Given the description of an element on the screen output the (x, y) to click on. 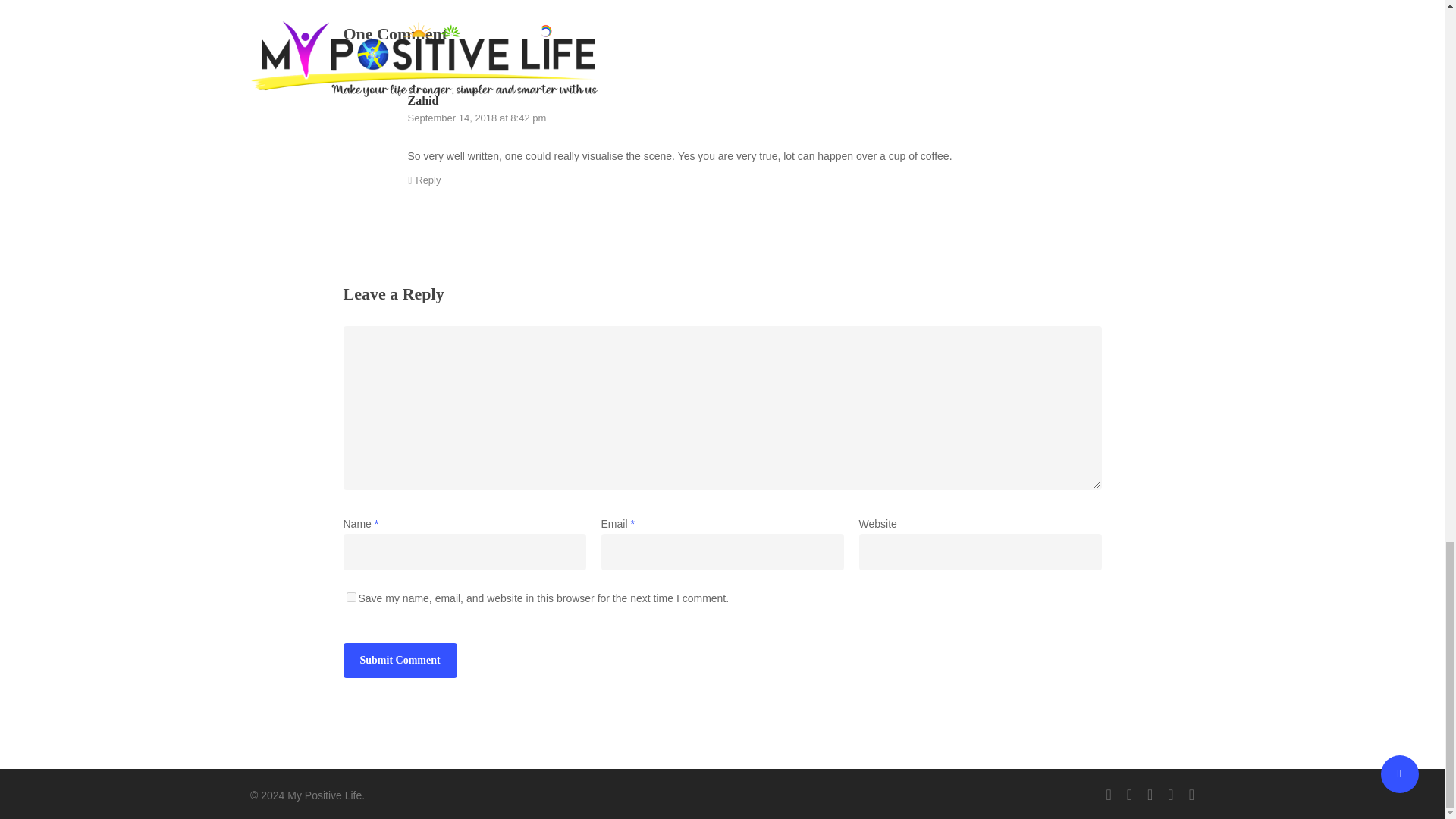
Reply (424, 179)
September 14, 2018 at 8:42 pm (477, 117)
Submit Comment (399, 660)
Submit Comment (399, 660)
yes (350, 596)
